Given the description of an element on the screen output the (x, y) to click on. 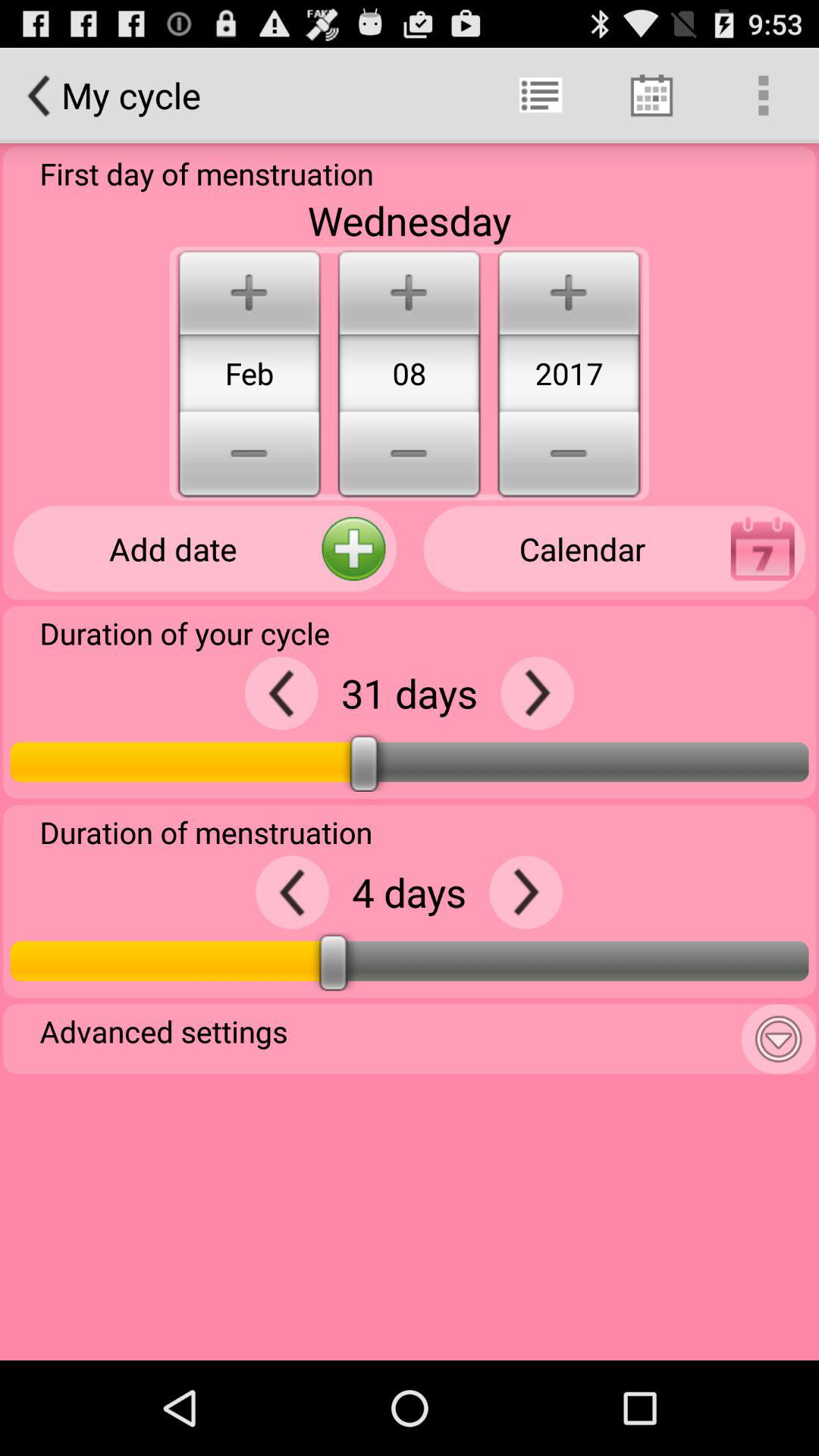
add 1 day (537, 693)
